Given the description of an element on the screen output the (x, y) to click on. 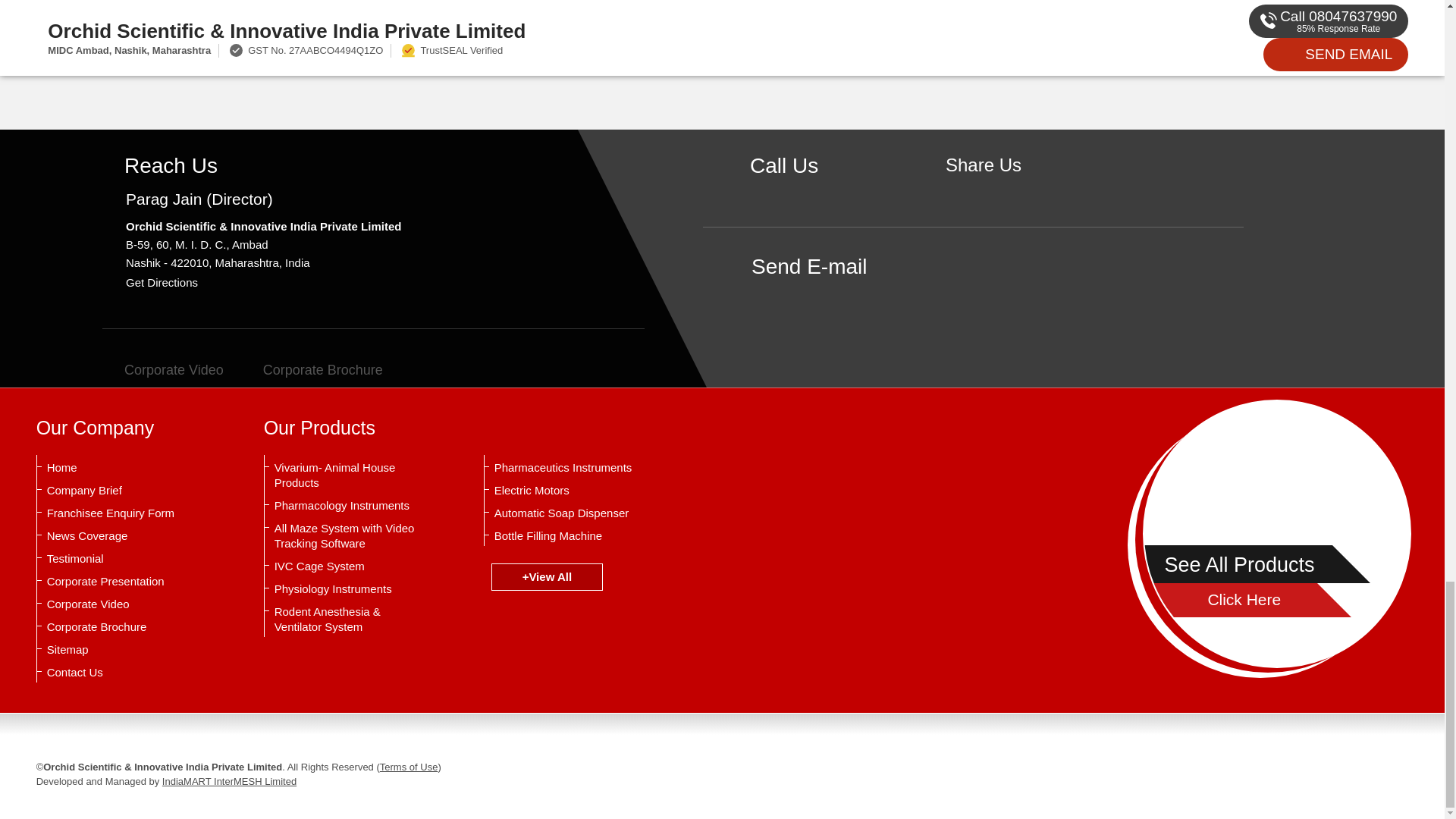
Get Directions (161, 282)
